Given the description of an element on the screen output the (x, y) to click on. 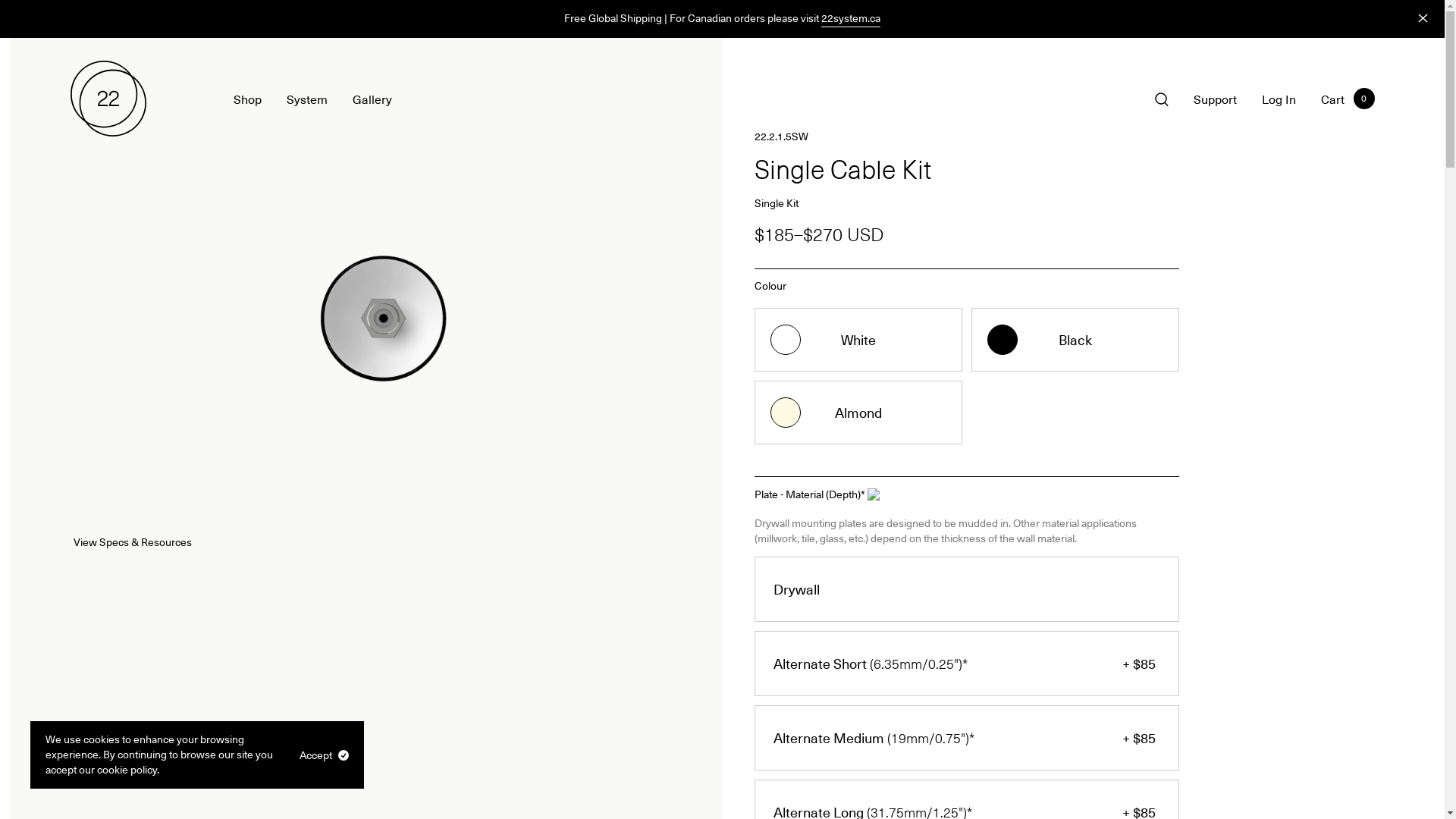
View Specs & Resources Element type: text (141, 542)
Cart Element type: text (1332, 97)
Log In Element type: text (1278, 97)
Accept Element type: text (323, 754)
0 Element type: text (1363, 98)
System Element type: text (306, 97)
Support Element type: text (1214, 97)
22system.ca Element type: text (850, 17)
Gallery Element type: text (371, 97)
Shop Element type: text (247, 97)
